Given the description of an element on the screen output the (x, y) to click on. 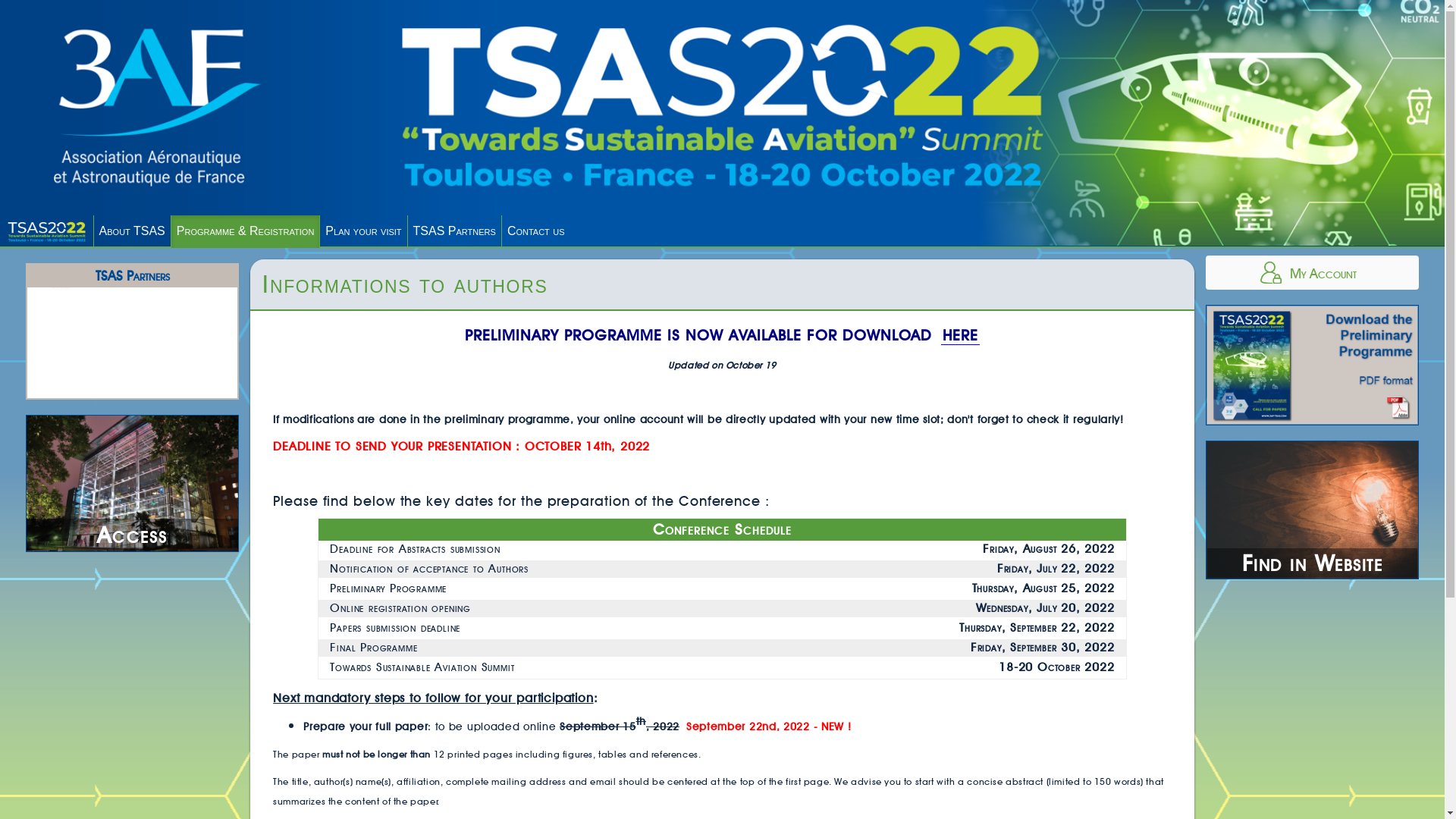
My Account Element type: text (1311, 272)
Plan your visit Element type: text (363, 231)
About TSAS Element type: text (132, 231)
Programme & Registration Element type: text (245, 231)
Download the preliminary programme Element type: hover (1312, 364)
HERE Element type: text (960, 335)
Contact us Element type: text (536, 231)
TSAS Partners Element type: text (454, 231)
